Given the description of an element on the screen output the (x, y) to click on. 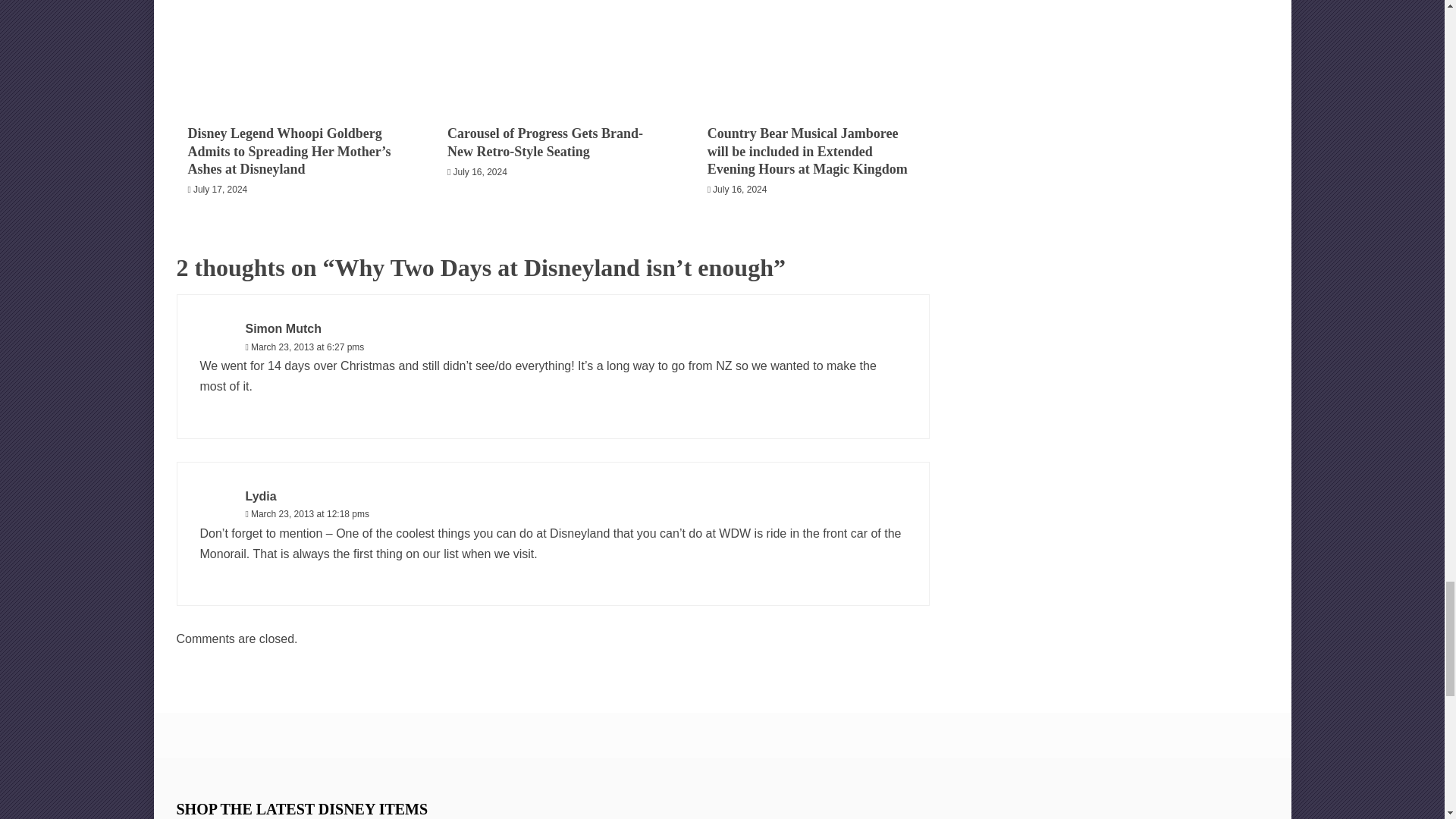
Carousel of Progress Gets Brand-New Retro-Style Seating (552, 53)
